Given the description of an element on the screen output the (x, y) to click on. 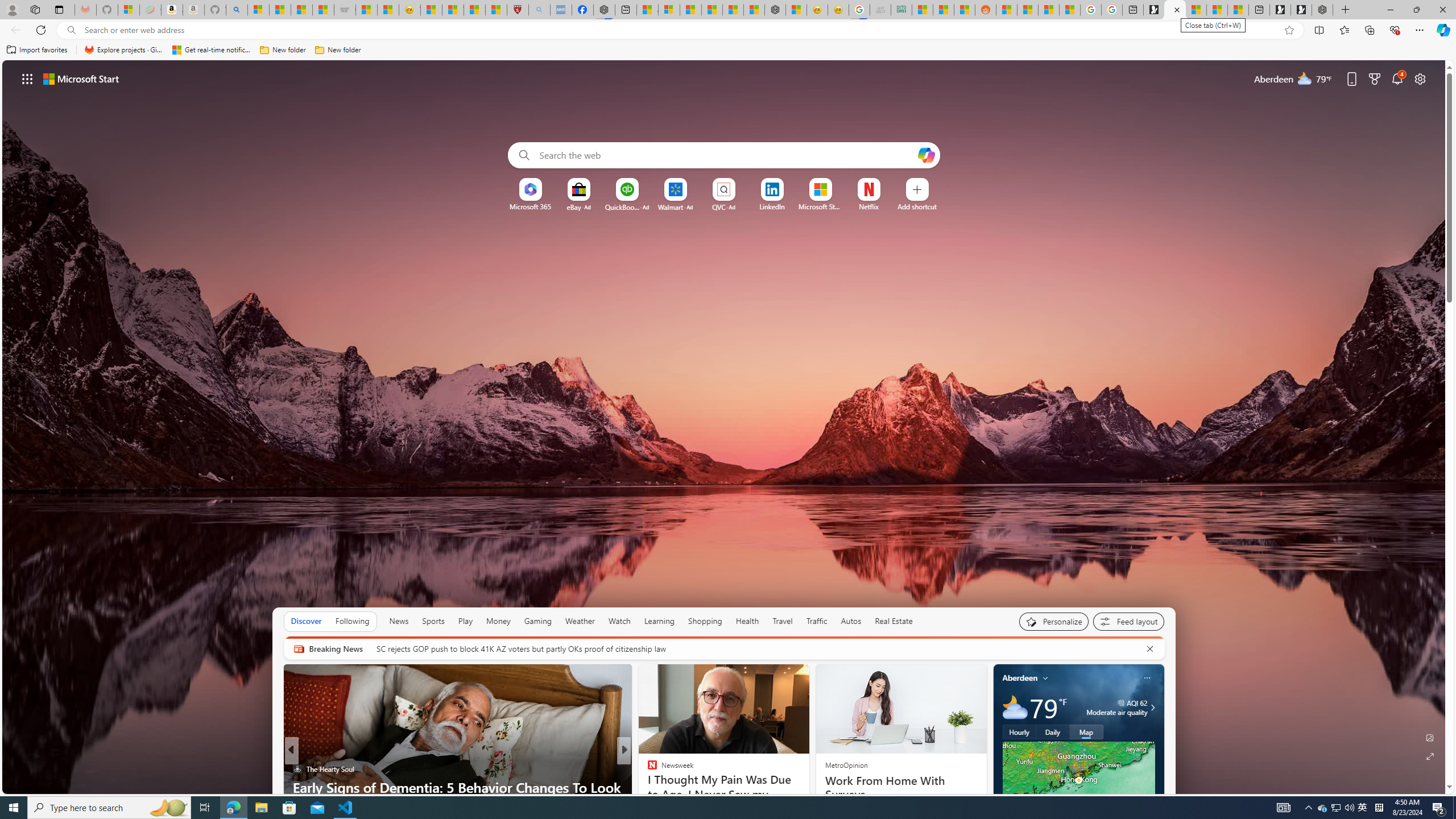
Nordace - #1 Japanese Best-Seller - Siena Smart Backpack (775, 9)
Morning Carpool (647, 786)
